Given the description of an element on the screen output the (x, y) to click on. 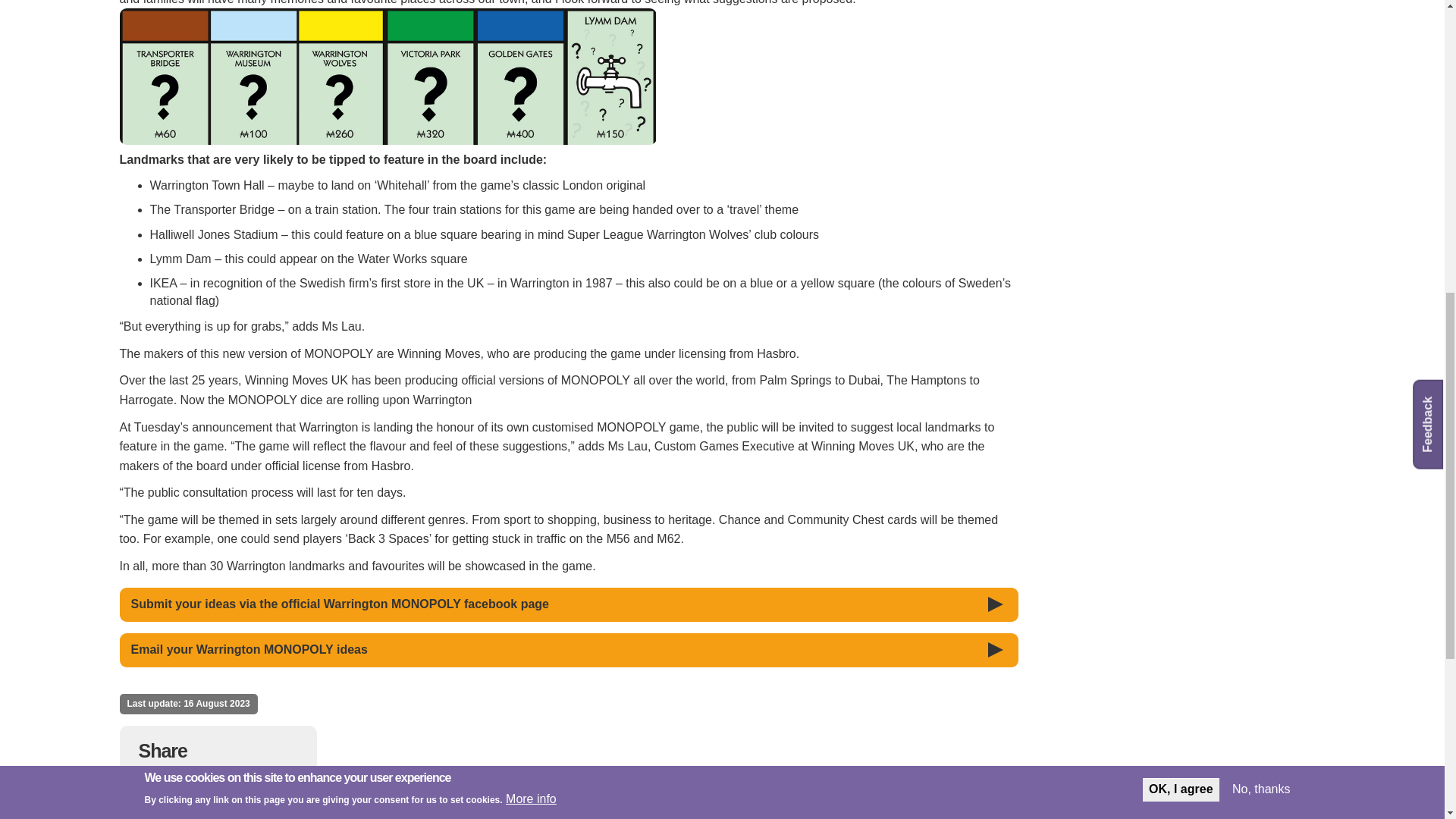
Share to Facebook (151, 782)
Share to Email (251, 782)
Share to Linkedin (218, 782)
Share to X (184, 782)
